Given the description of an element on the screen output the (x, y) to click on. 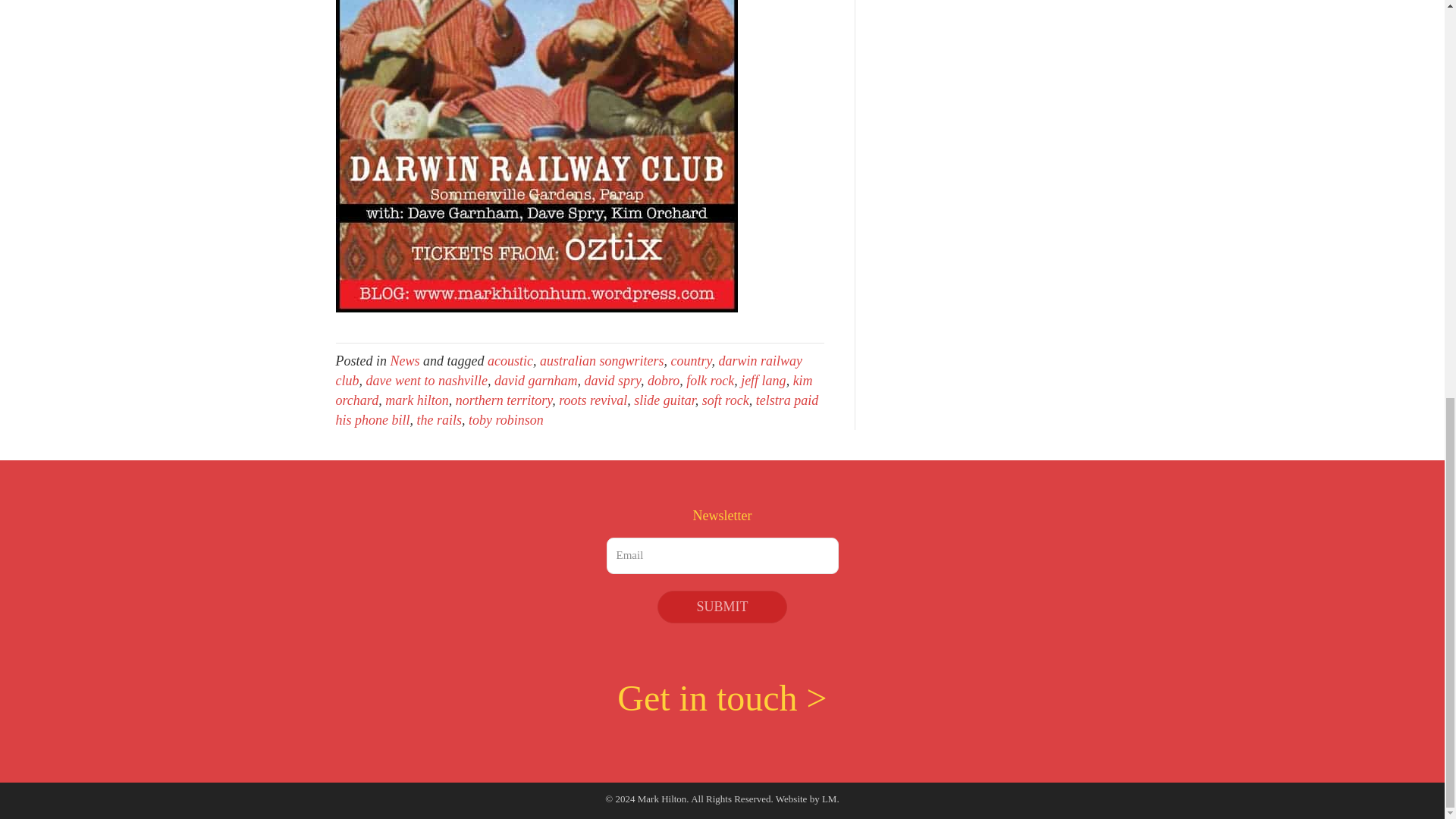
australian songwriters (601, 360)
Submit (722, 607)
dobro (663, 380)
acoustic (509, 360)
the rails (439, 419)
News (404, 360)
jeff lang (763, 380)
mark hilton (416, 400)
roots revival (593, 400)
toby robinson (505, 419)
folk rock (709, 380)
telstra paid his phone bill (576, 410)
dave went to nashville (425, 380)
soft rock (725, 400)
country (691, 360)
